Given the description of an element on the screen output the (x, y) to click on. 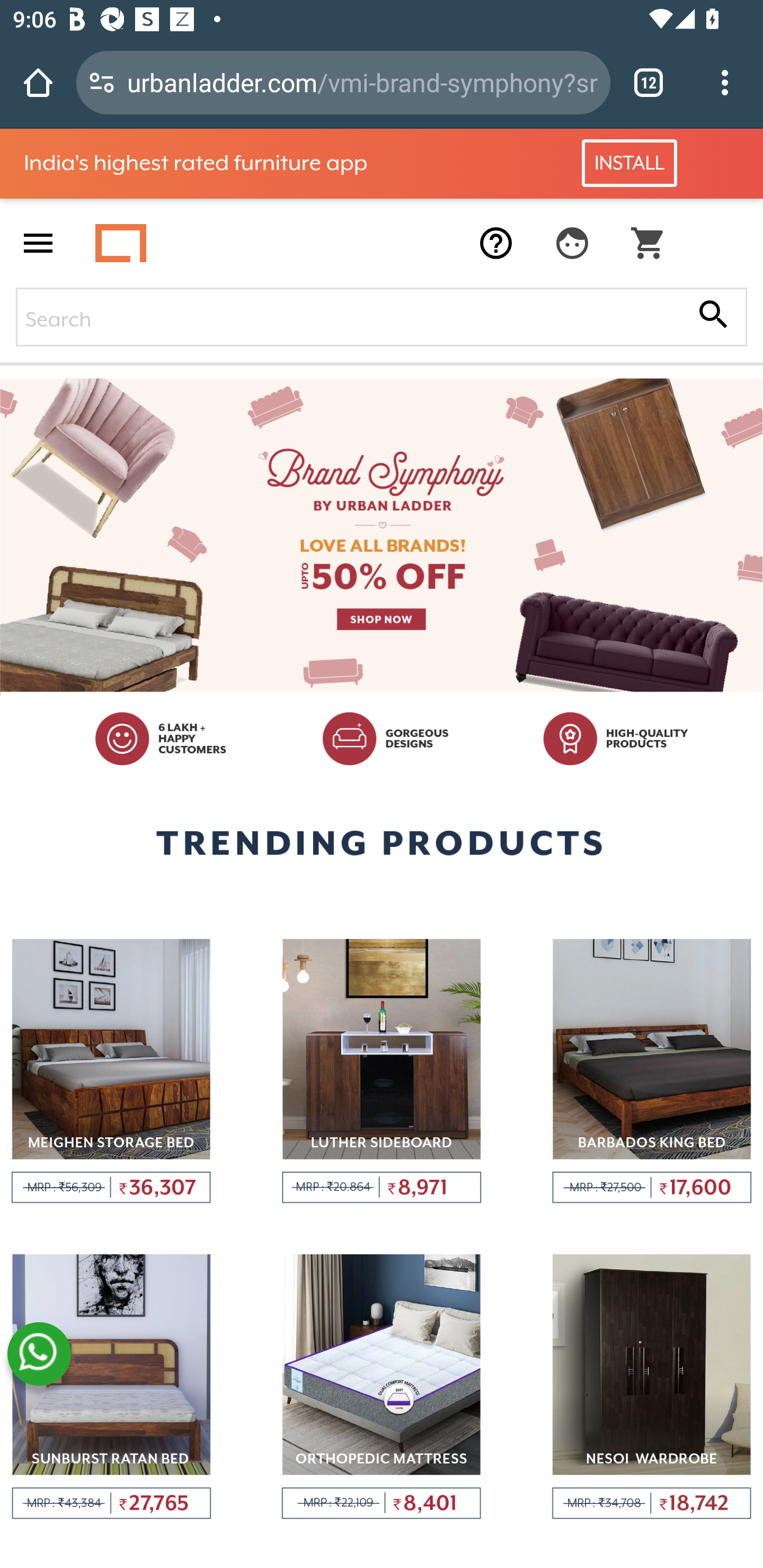
Open the home page (38, 82)
Connection is secure (101, 82)
Switch or close tabs (648, 82)
Customize and control Google Chrome (724, 82)
INSTALL (629, 162)
India's highest rated furniture app (247, 162)
hamburger logo (38, 242)
ul logo (120, 242)
help (495, 242)
 (572, 242)
 (648, 242)
 (713, 315)
VMI_trending_products-1 (111, 1071)
VMI_trending_prodcucts-2 (381, 1071)
VMI_trending_prodcucts-3 (651, 1071)
VMI_trending_prodcut-4 (111, 1387)
VMI_trending_prodcucts-6 (651, 1387)
